Given the description of an element on the screen output the (x, y) to click on. 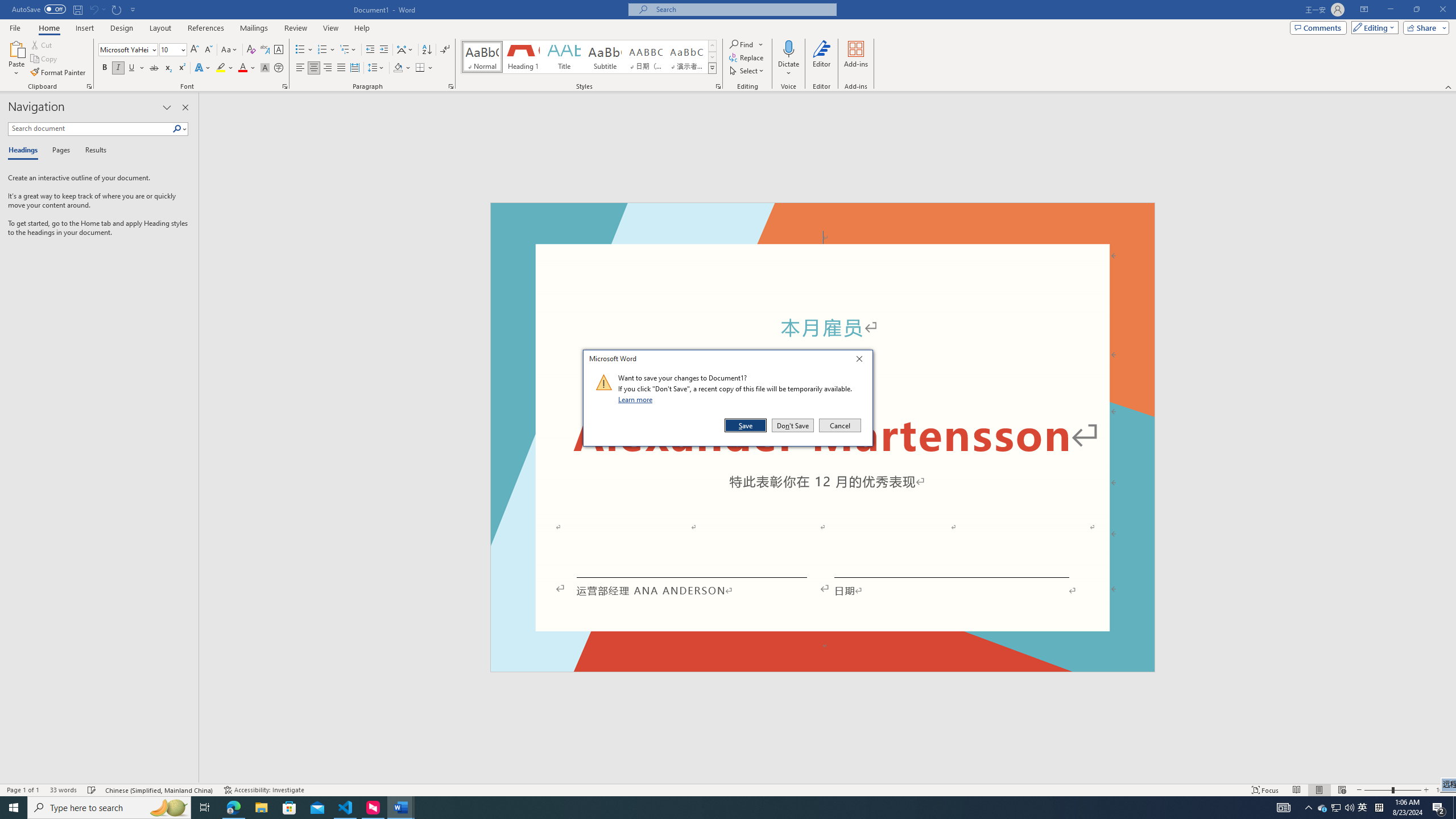
Don't Save (792, 425)
Font Color (246, 67)
Shading RGB(0, 0, 0) (397, 67)
Show/Hide Editing Marks (444, 49)
Decrease Indent (370, 49)
Justify (340, 67)
Character Shading (264, 67)
Pages (59, 150)
Strikethrough (154, 67)
